Given the description of an element on the screen output the (x, y) to click on. 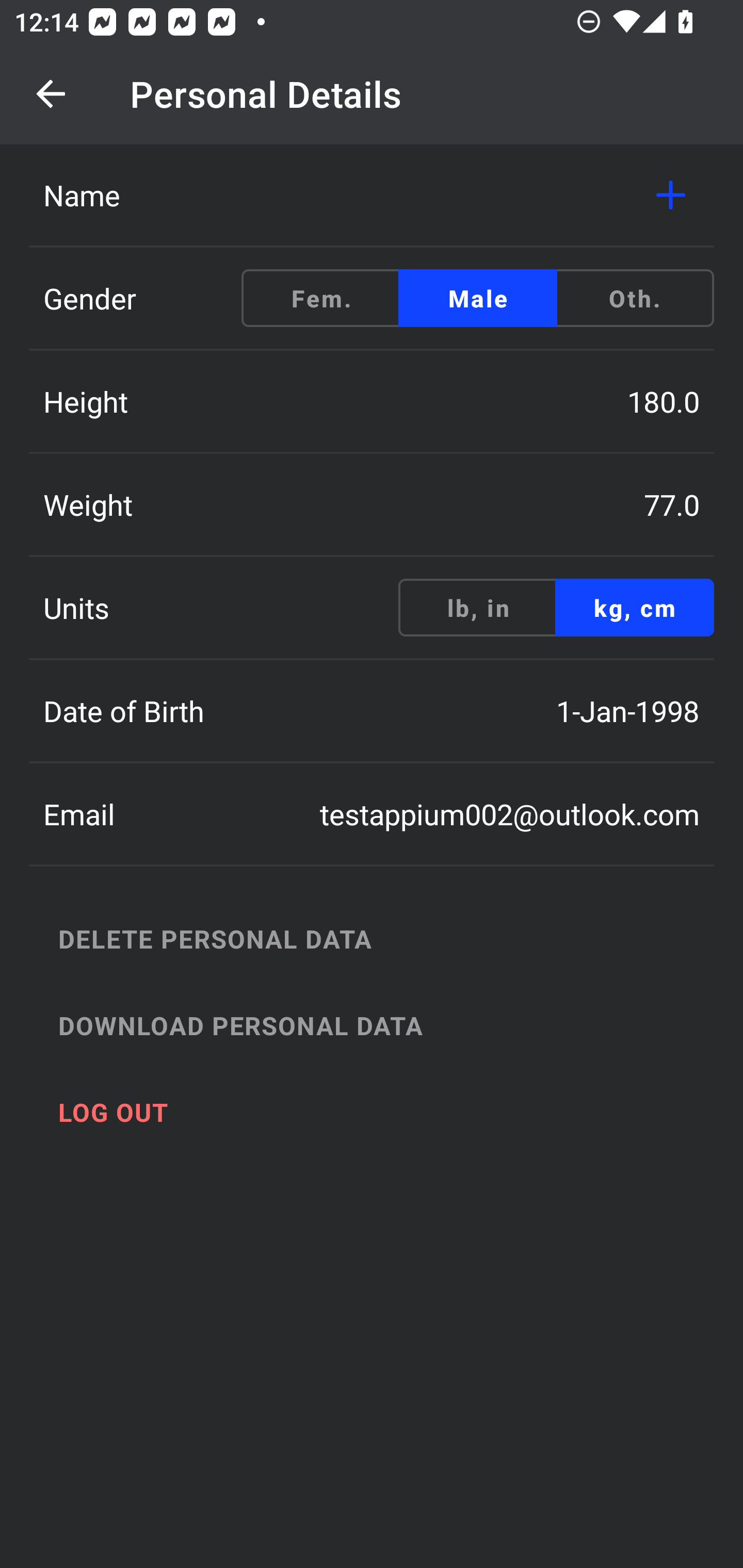
Name (371, 195)
Fem. (320, 298)
Male (477, 298)
Oth. (634, 298)
Height 180.0 (371, 401)
Weight 77.0 (371, 504)
lb, in (477, 607)
kg, cm (634, 607)
Date of Birth 1-Jan-1998 (371, 711)
Email testappium002@outlook.com (371, 813)
DELETE PERSONAL DATA (393, 938)
DOWNLOAD PERSONAL DATA (393, 1025)
LOG OUT (393, 1112)
